Given the description of an element on the screen output the (x, y) to click on. 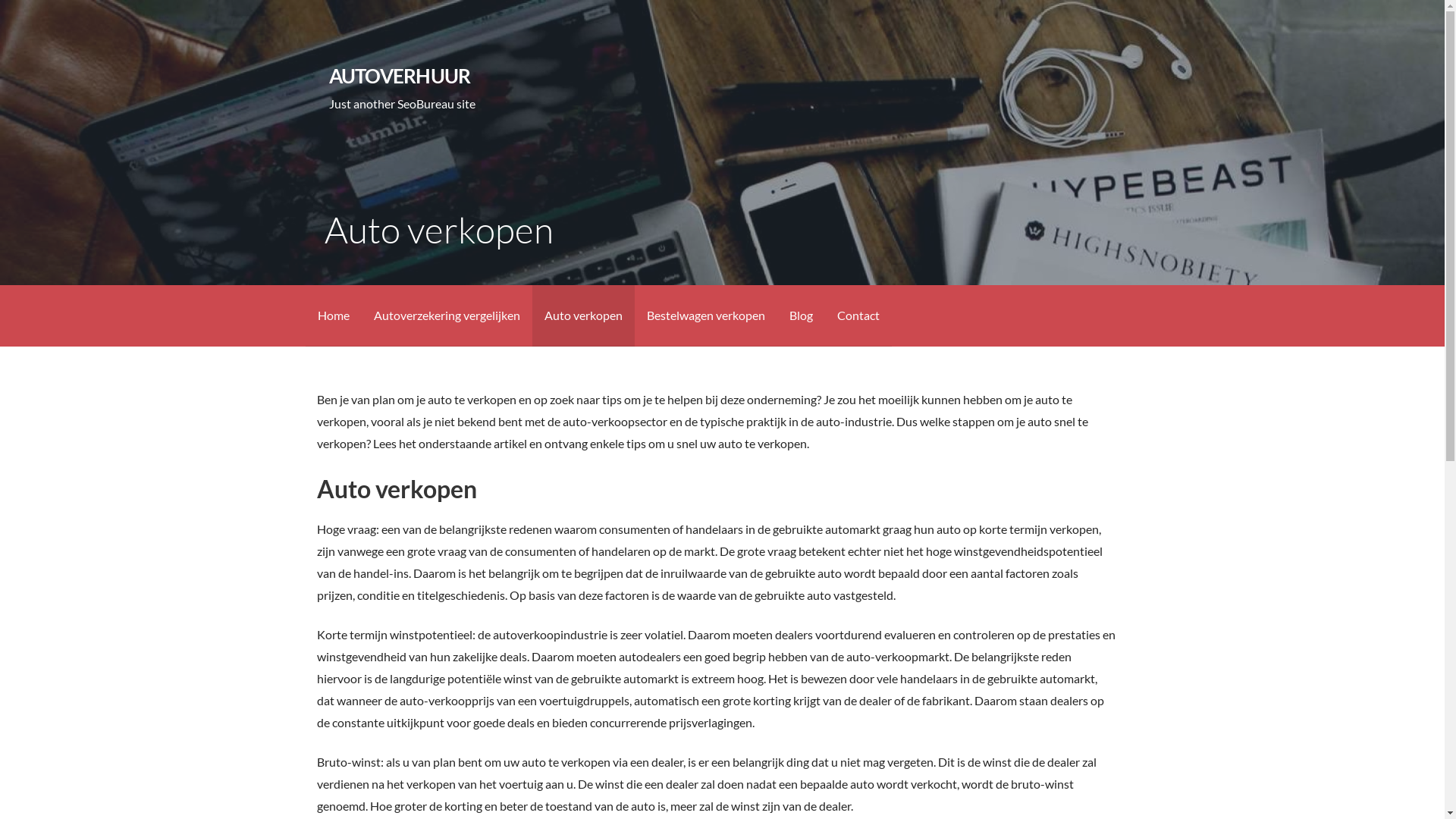
Autoverzekering vergelijken Element type: text (445, 315)
Contact Element type: text (858, 315)
Home Element type: text (332, 315)
AUTOVERHUUR Element type: text (399, 75)
Bestelwagen verkopen Element type: text (704, 315)
Blog Element type: text (800, 315)
Auto verkopen Element type: text (583, 315)
